Given the description of an element on the screen output the (x, y) to click on. 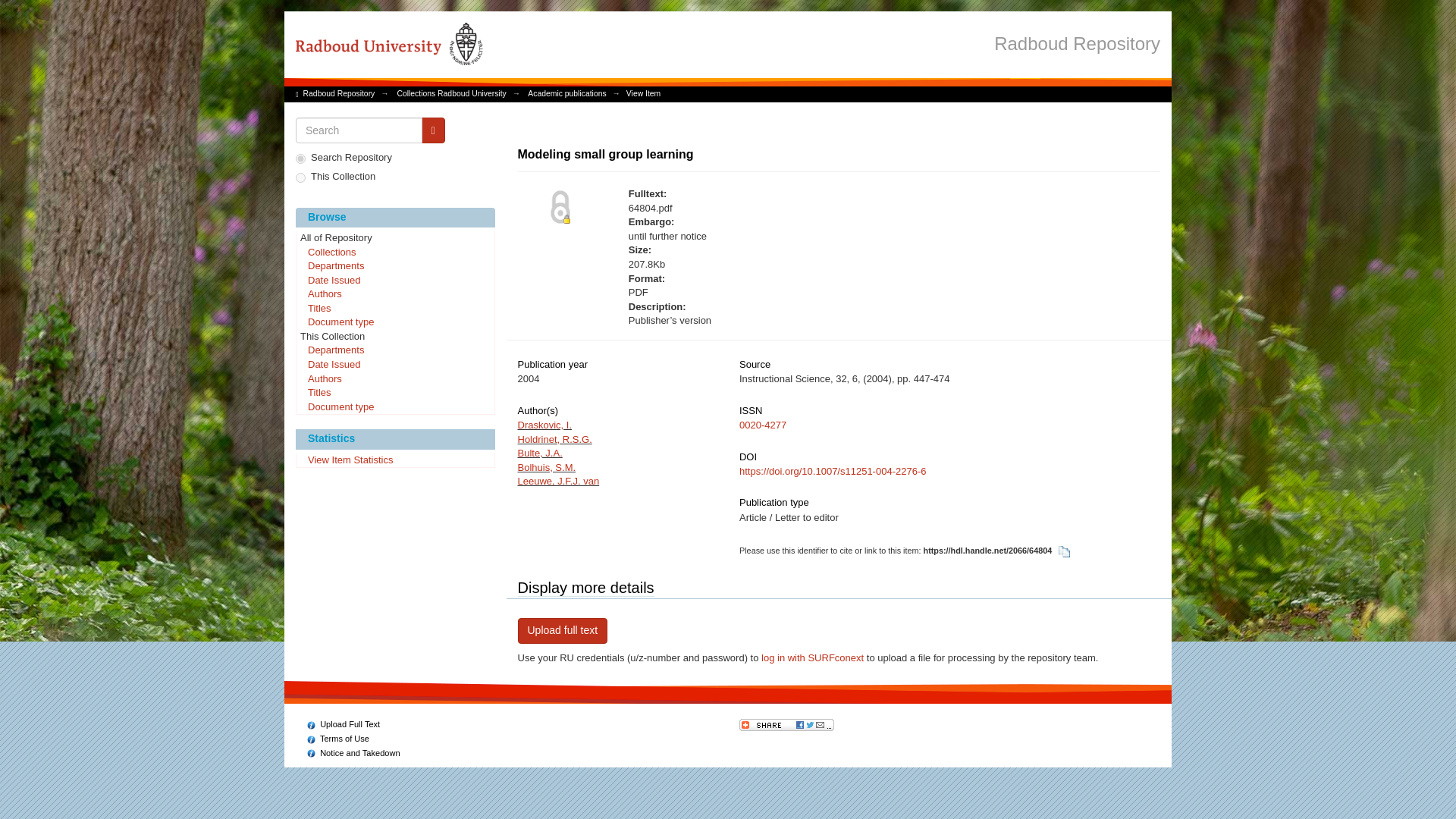
Collections (395, 253)
Browse (395, 217)
View Item Statistics (395, 460)
Academic publications (566, 93)
Holdrinet, R.S.G. (553, 439)
Radboud Repository (338, 93)
64804.pdf (783, 208)
Document type (395, 322)
Date Issued (395, 365)
0020-4277 (762, 424)
